Given the description of an element on the screen output the (x, y) to click on. 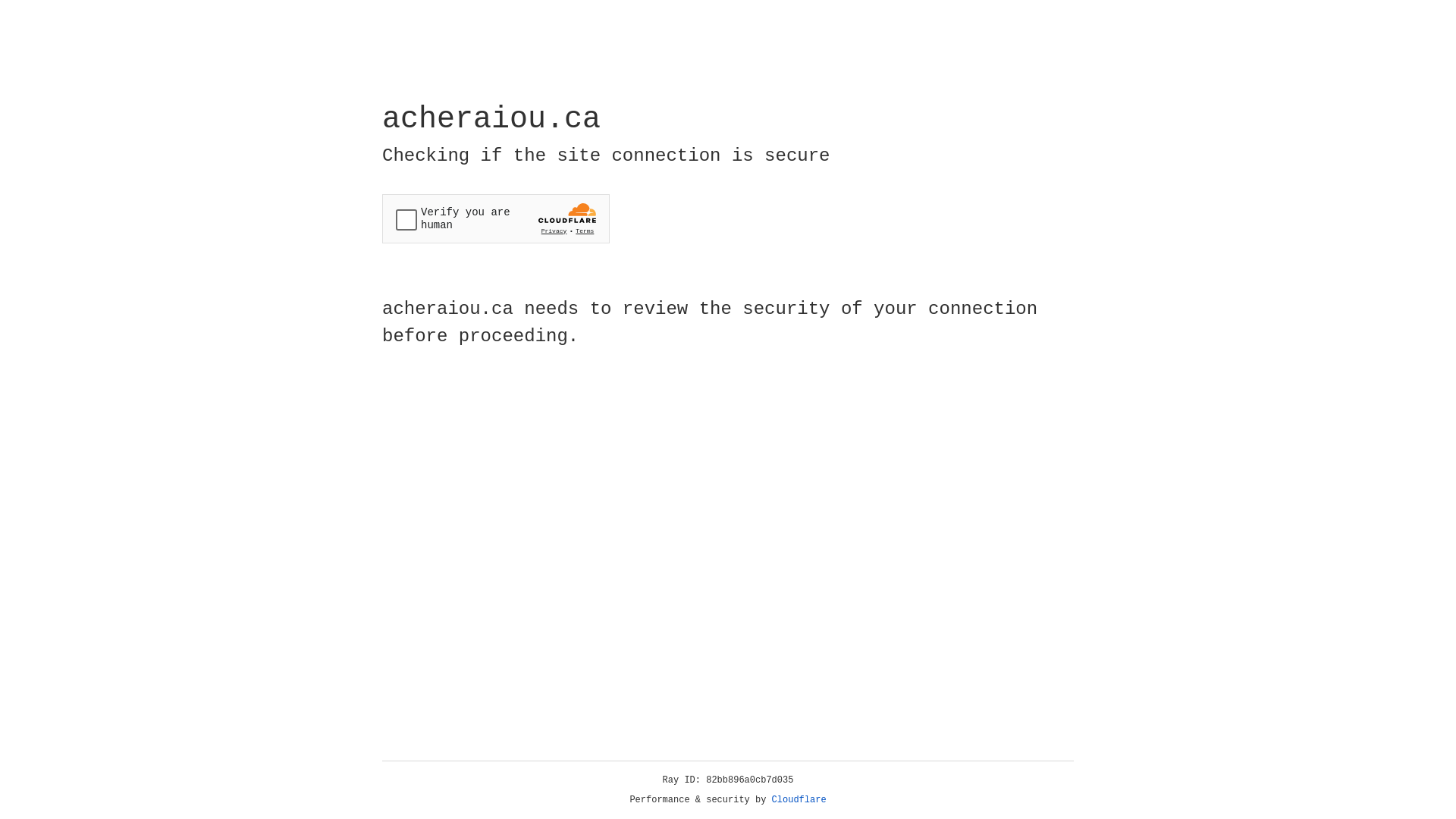
Widget containing a Cloudflare security challenge Element type: hover (495, 218)
Cloudflare Element type: text (798, 799)
